Given the description of an element on the screen output the (x, y) to click on. 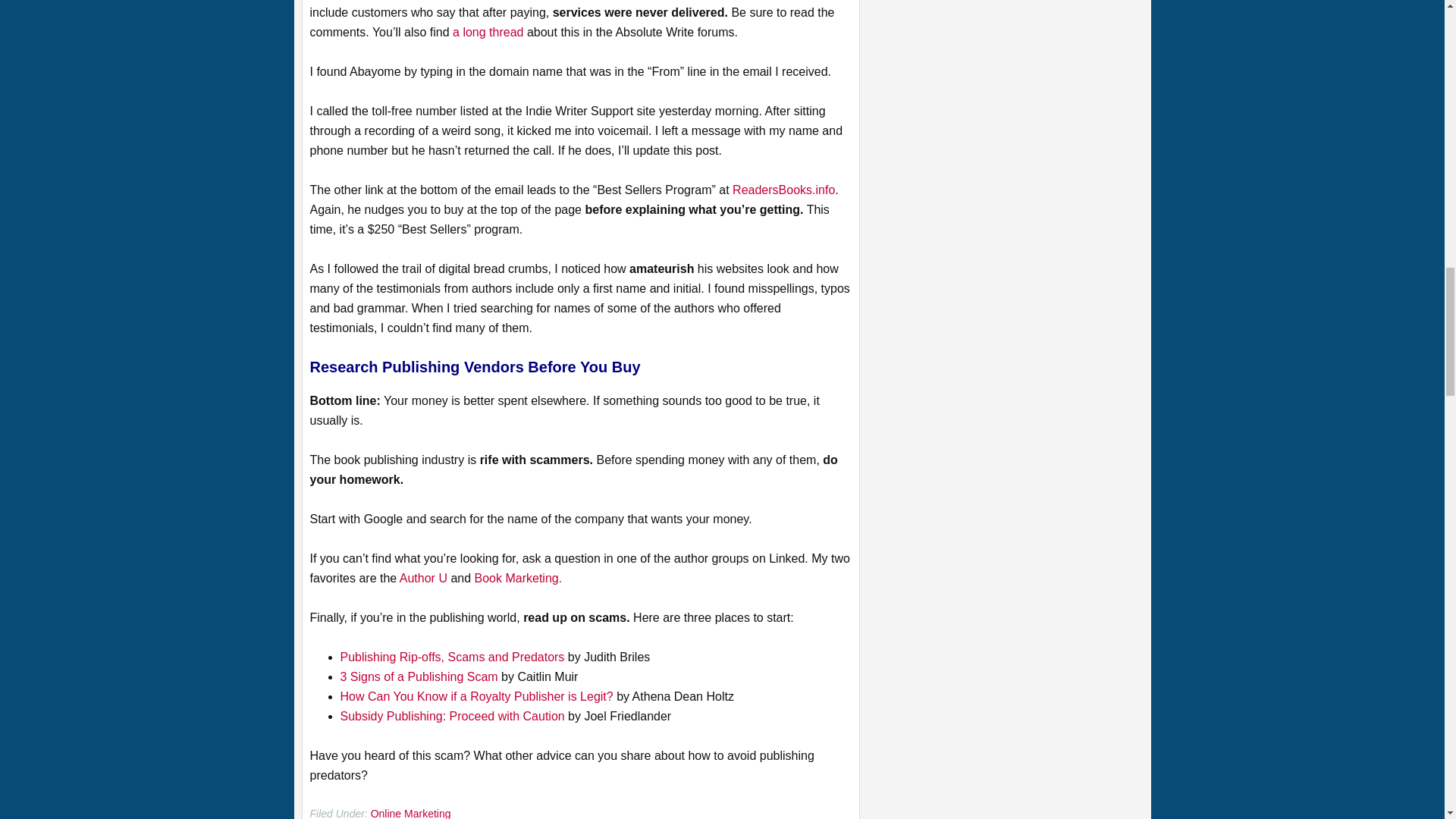
ReadersBooks.info (783, 189)
3 Signs of a Publishing Scam (418, 676)
Book Marketing. (518, 577)
Online Marketing (411, 813)
a long thread (487, 31)
Author U (422, 577)
Publishing Rip-offs, Scams and Predators (451, 656)
How Can You Know if a Royalty Publisher is Legit? (475, 696)
Subsidy Publishing: Proceed with Caution (451, 716)
